Given the description of an element on the screen output the (x, y) to click on. 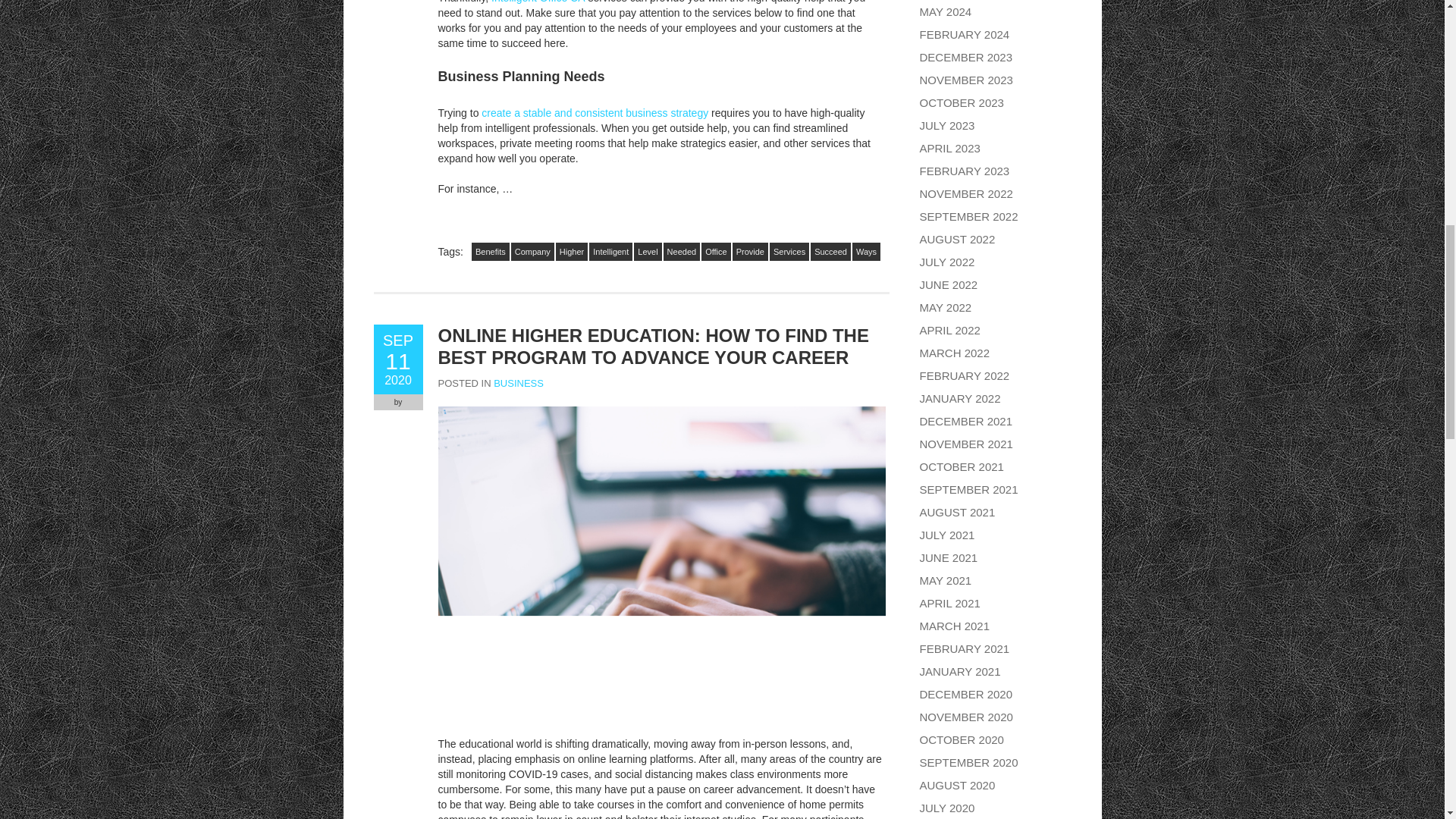
Higher (572, 251)
Company (532, 251)
Intelligent (610, 251)
Succeed (830, 251)
Benefits (490, 251)
Level (647, 251)
BUSINESS (518, 383)
Office (715, 251)
Ways (865, 251)
create a stable and consistent business strategy (397, 359)
Needed (594, 112)
Services (681, 251)
